Given the description of an element on the screen output the (x, y) to click on. 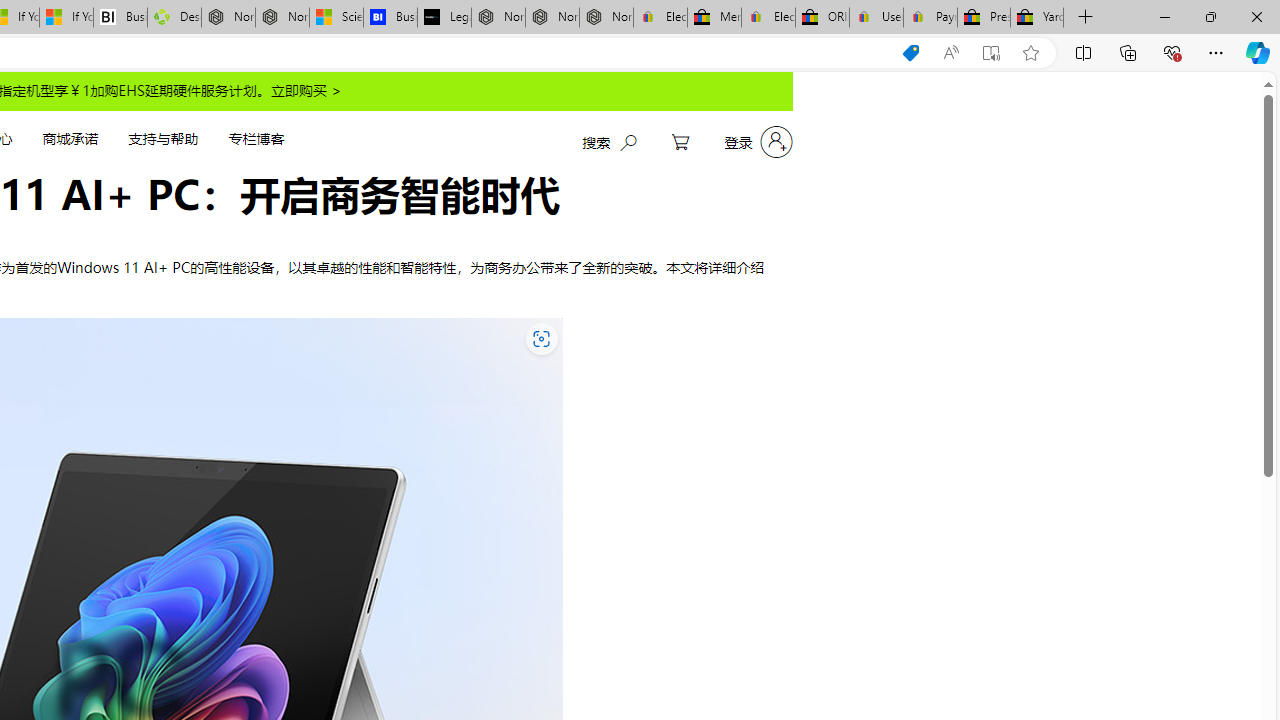
Press Room - eBay Inc. (983, 17)
Nordace - Summer Adventures 2024 (228, 17)
My Cart (679, 142)
